Given the description of an element on the screen output the (x, y) to click on. 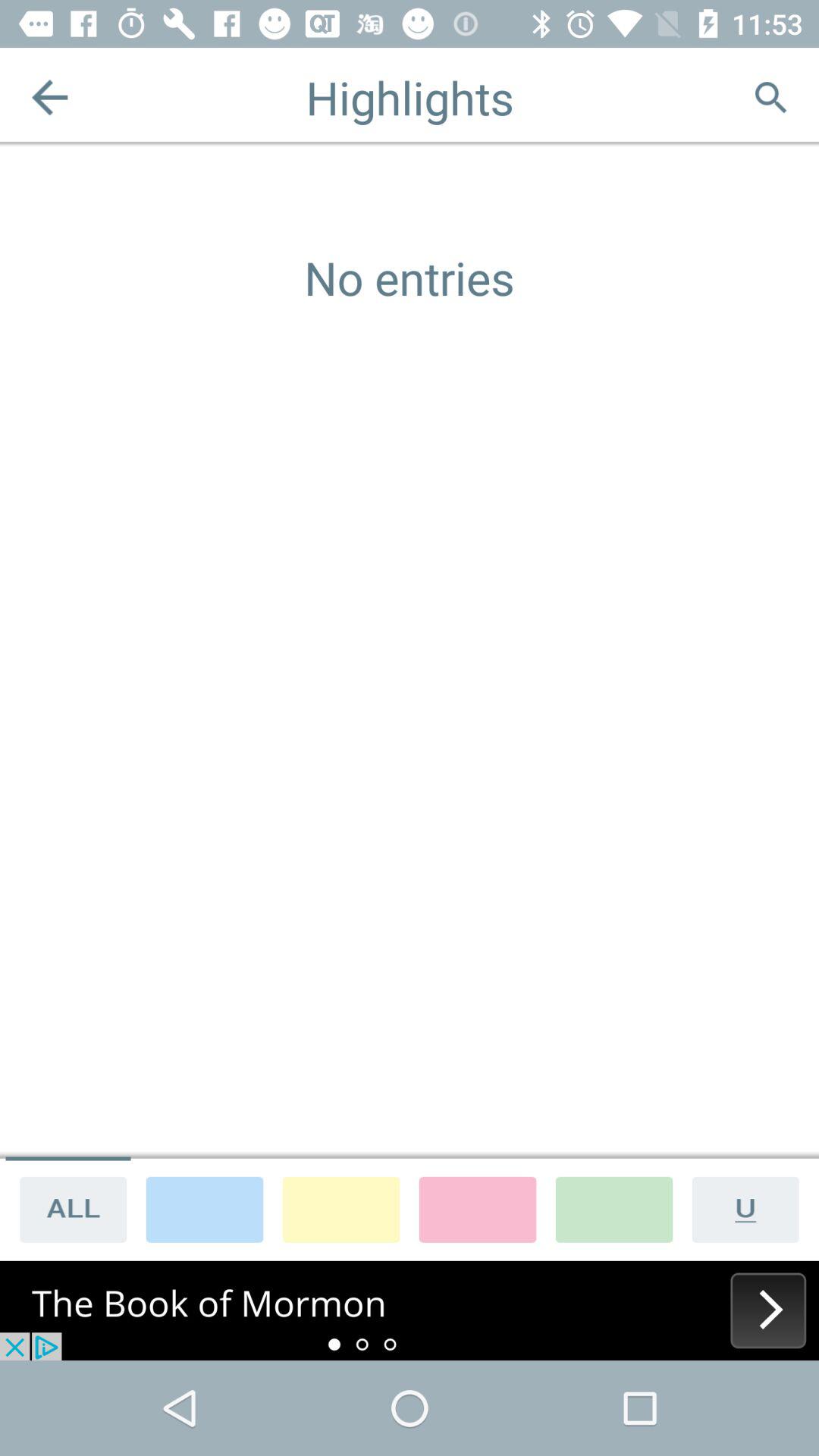
select the color (477, 1208)
